Given the description of an element on the screen output the (x, y) to click on. 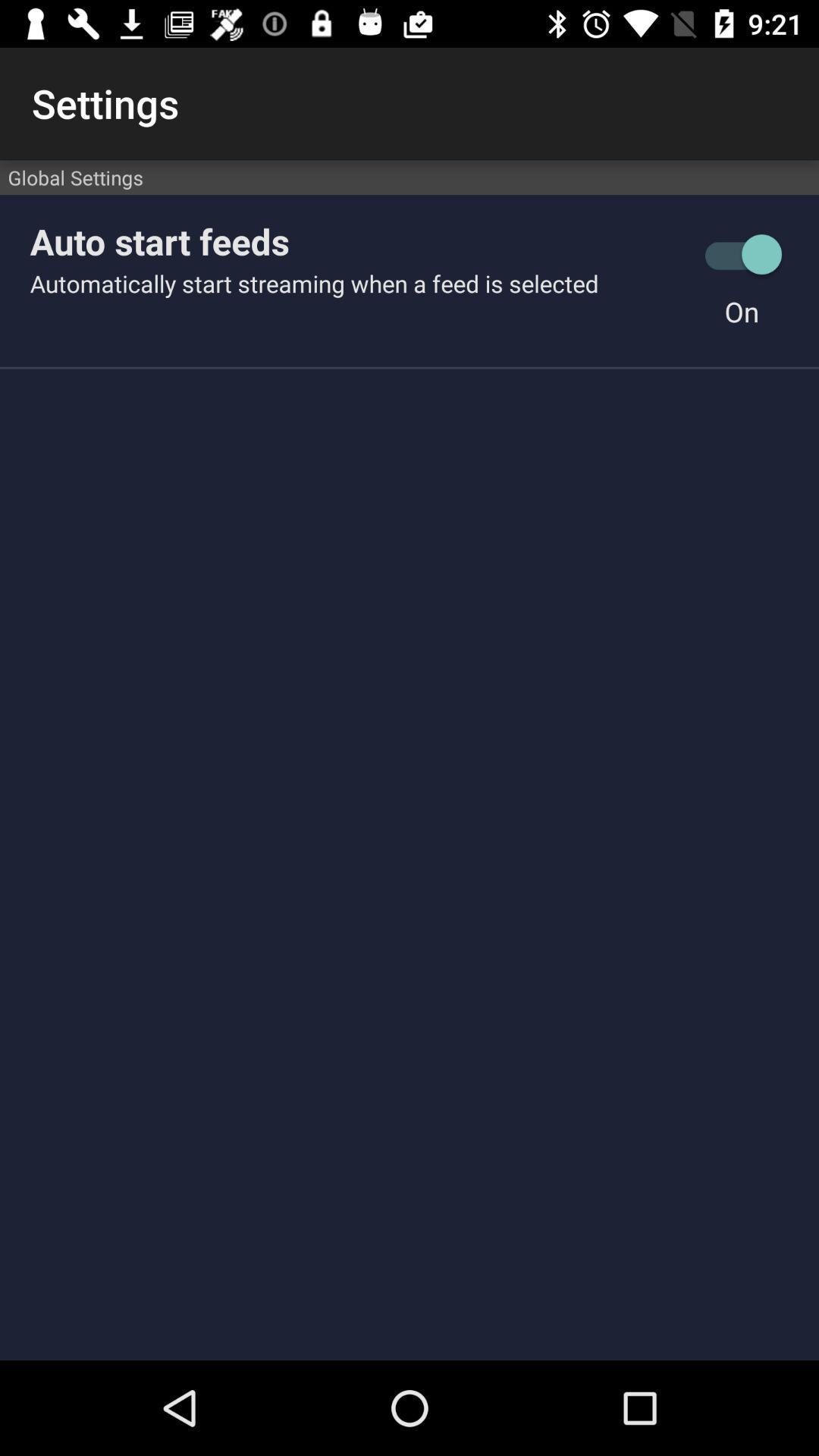
click the on item (741, 311)
